Given the description of an element on the screen output the (x, y) to click on. 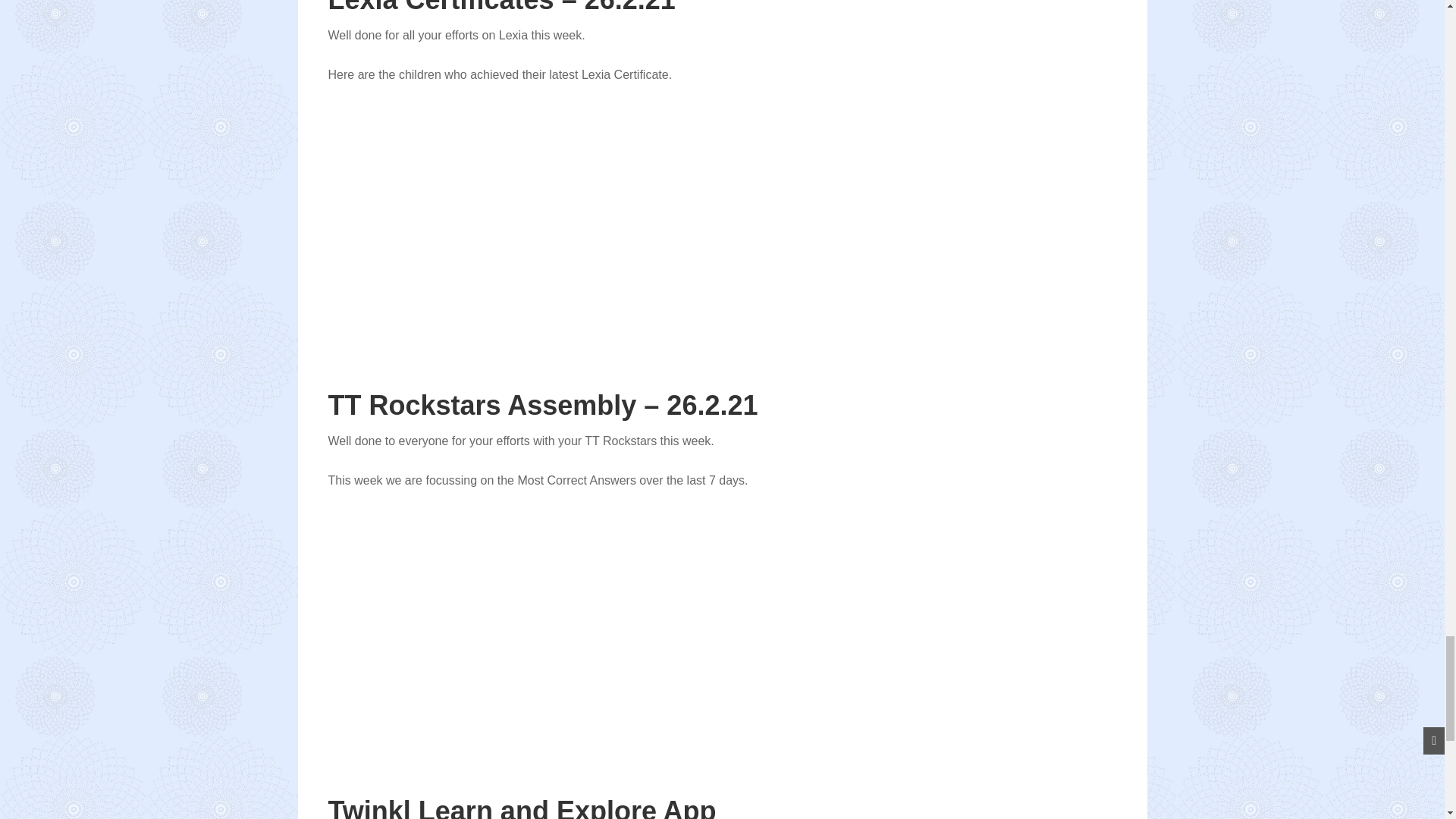
Lexia Certificates - 26.2.21 (516, 210)
TTRockstars Certificates - 26.2.21 (516, 616)
